Given the description of an element on the screen output the (x, y) to click on. 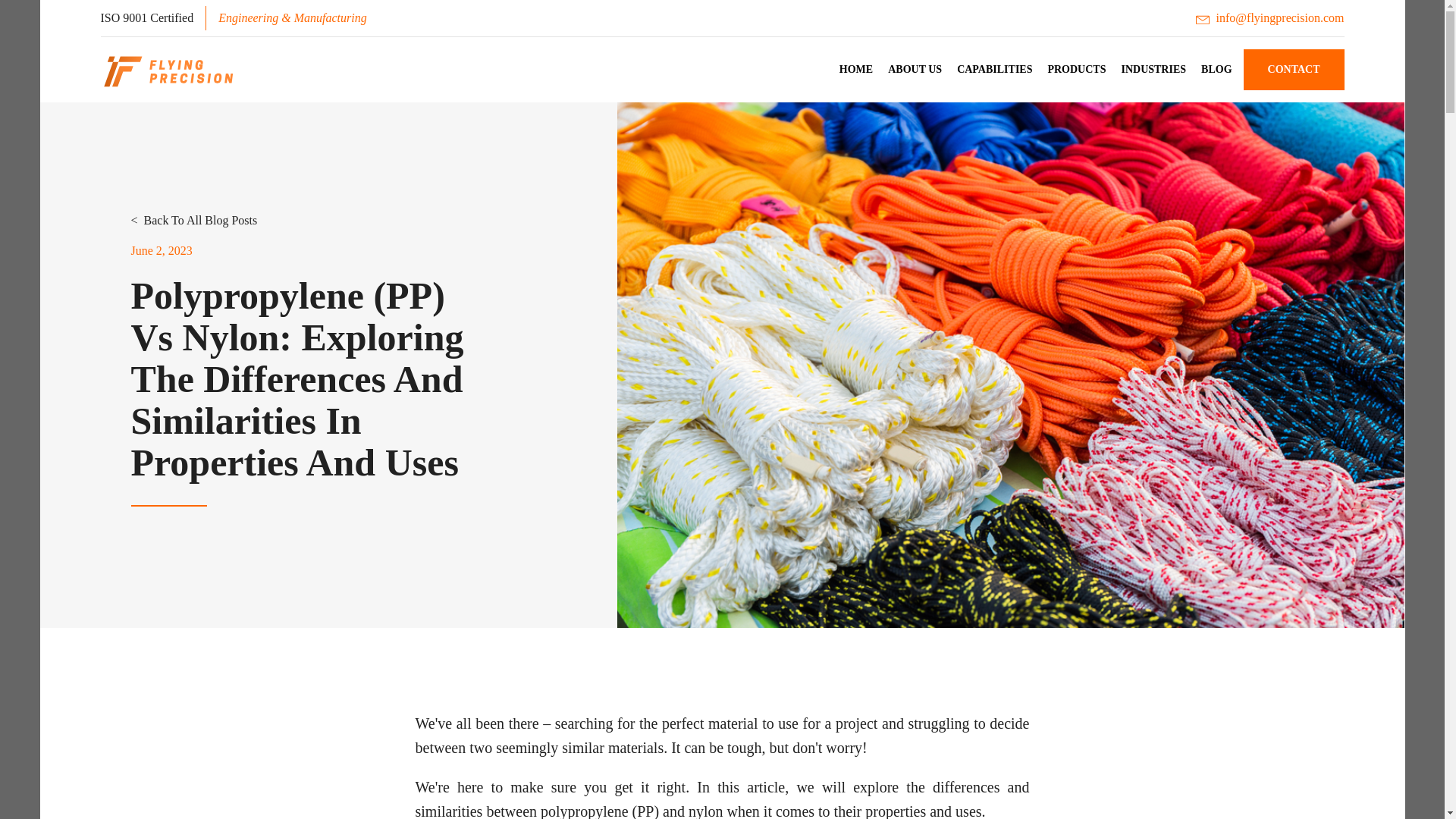
CONTACT (1293, 69)
INDUSTRIES (1153, 69)
ABOUT US (914, 69)
CAPABILITIES (994, 69)
BLOG (1216, 69)
PRODUCTS (1076, 69)
HOME (855, 69)
